Given the description of an element on the screen output the (x, y) to click on. 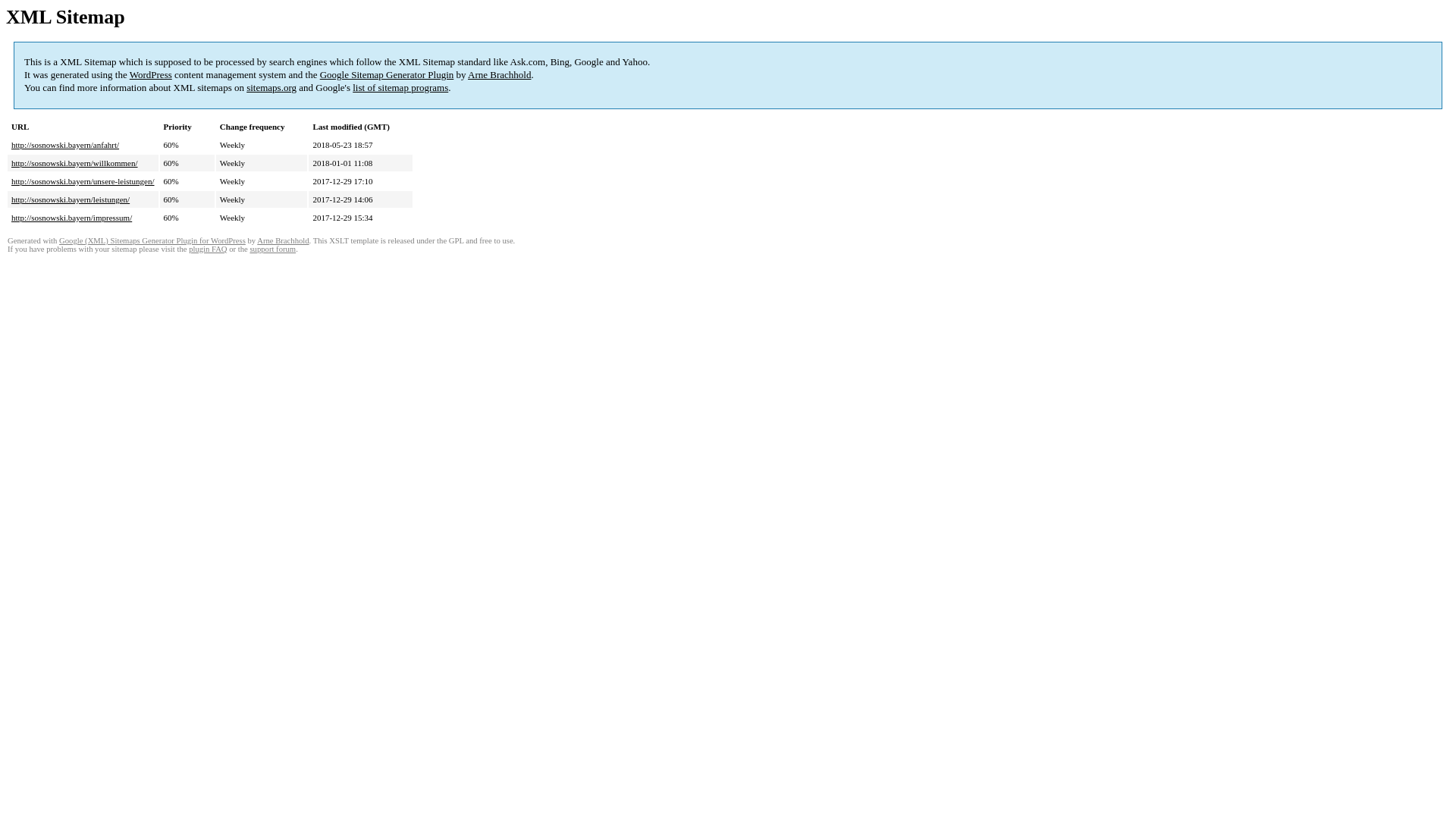
http://sosnowski.bayern/impressum/ Element type: text (71, 217)
Google (XML) Sitemaps Generator Plugin for WordPress Element type: text (152, 240)
Google Sitemap Generator Plugin Element type: text (387, 74)
http://sosnowski.bayern/anfahrt/ Element type: text (65, 144)
http://sosnowski.bayern/willkommen/ Element type: text (74, 162)
sitemaps.org Element type: text (271, 87)
http://sosnowski.bayern/leistungen/ Element type: text (70, 198)
Arne Brachhold Element type: text (282, 240)
list of sitemap programs Element type: text (400, 87)
plugin FAQ Element type: text (207, 248)
http://sosnowski.bayern/unsere-leistungen/ Element type: text (82, 180)
WordPress Element type: text (150, 74)
Arne Brachhold Element type: text (498, 74)
support forum Element type: text (272, 248)
